Given the description of an element on the screen output the (x, y) to click on. 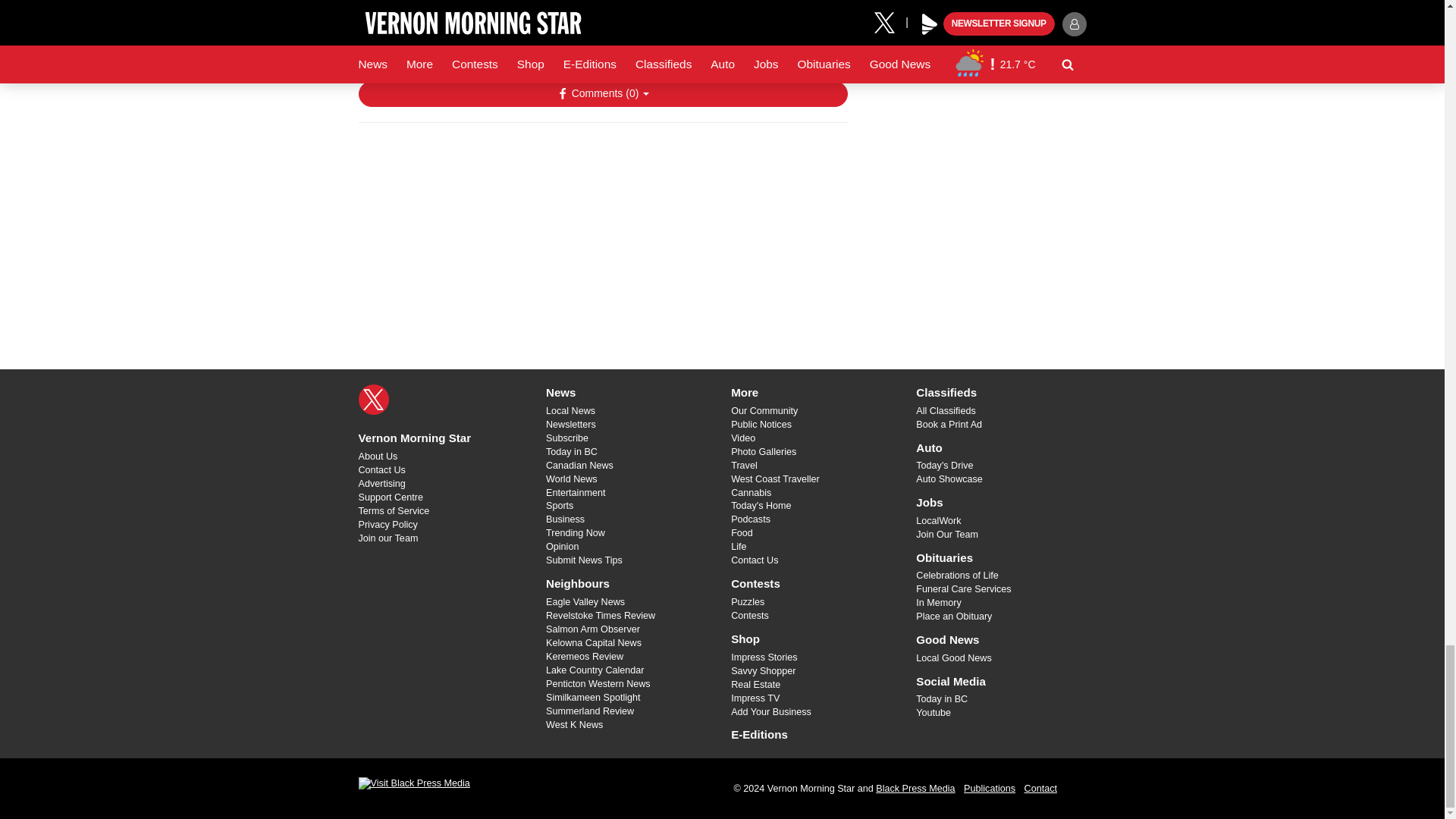
3rd party ad content (602, 232)
Show Comments (602, 94)
